Given the description of an element on the screen output the (x, y) to click on. 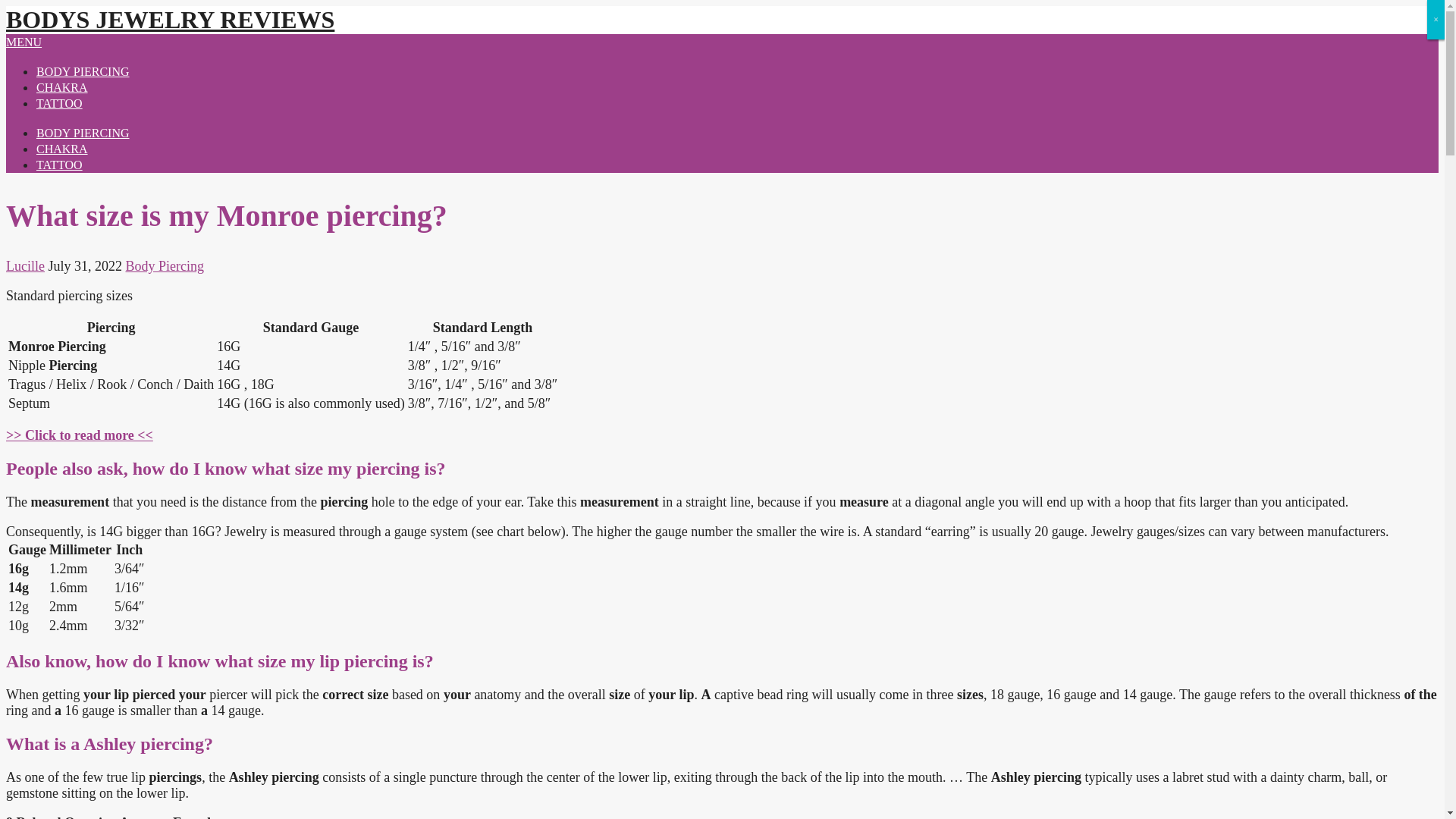
BODY PIERCING (82, 132)
Body Piercing (165, 265)
Lucille (25, 265)
CHAKRA (61, 148)
BODY PIERCING (82, 71)
TATTOO (59, 164)
BODYS JEWELRY REVIEWS (169, 19)
TATTOO (59, 103)
CHAKRA (61, 87)
What size is my Monroe piercing? (78, 435)
Posts by Lucille (25, 265)
View all posts in Body Piercing (165, 265)
MENU (23, 42)
